Given the description of an element on the screen output the (x, y) to click on. 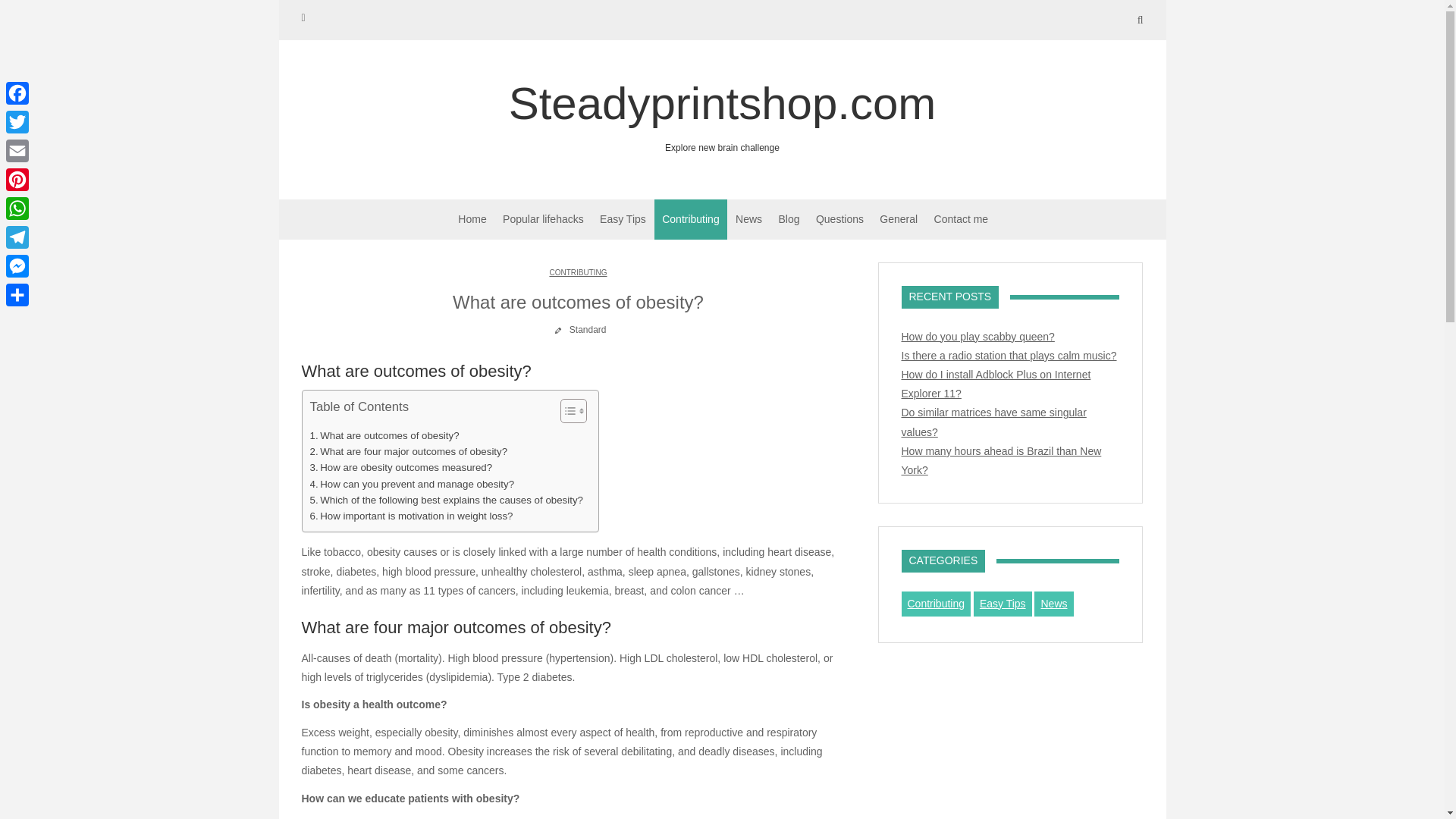
What are four major outcomes of obesity? (721, 115)
Popular lifehacks (407, 451)
Home (543, 219)
How can you prevent and manage obesity? (471, 219)
Steadyprintshop.com (410, 483)
What are outcomes of obesity? (721, 115)
How important is motivation in weight loss? (383, 435)
Easy Tips (410, 515)
How are obesity outcomes measured? (622, 219)
